Given the description of an element on the screen output the (x, y) to click on. 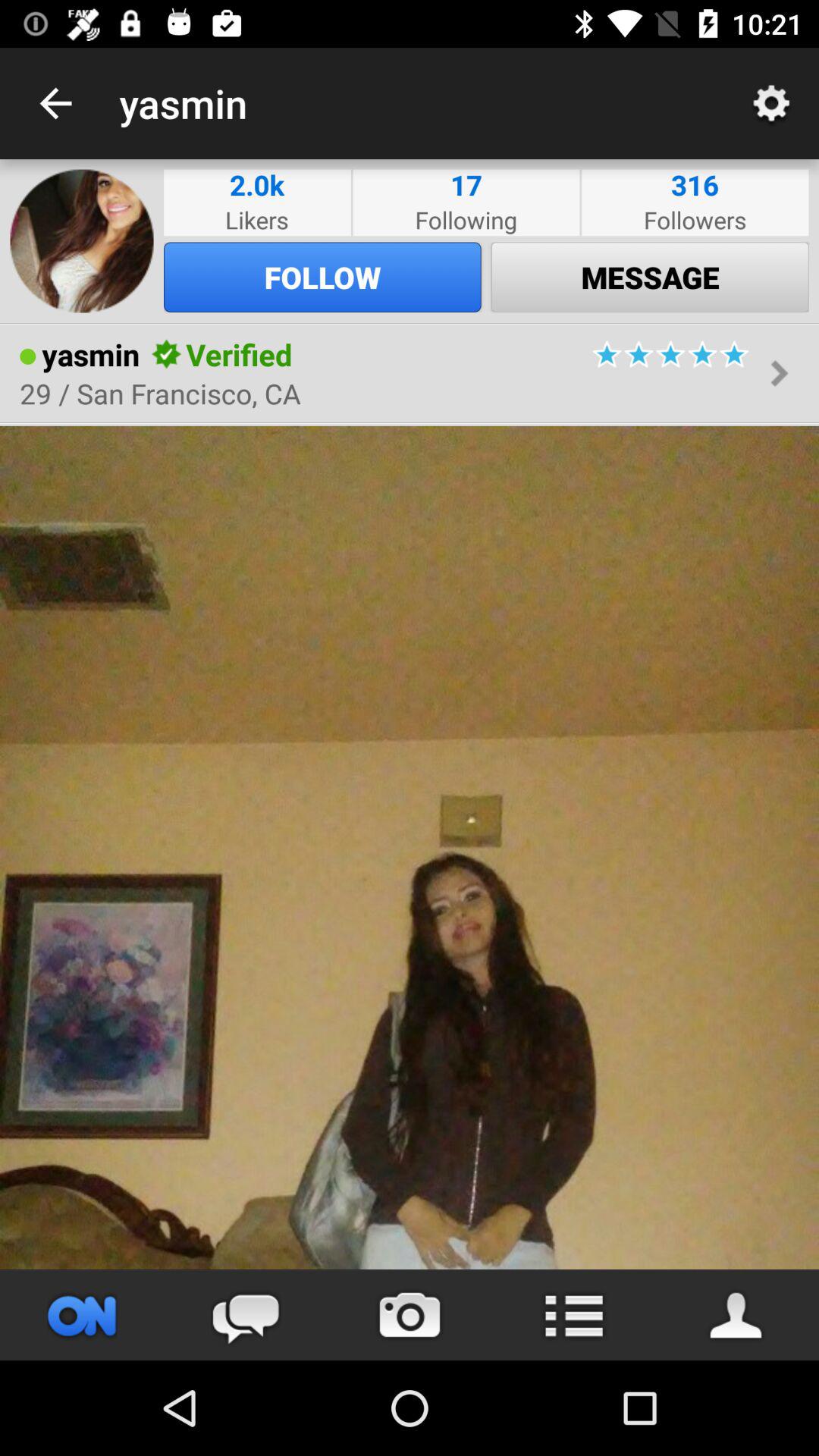
tap icon to the left of the yasmin app (55, 103)
